Given the description of an element on the screen output the (x, y) to click on. 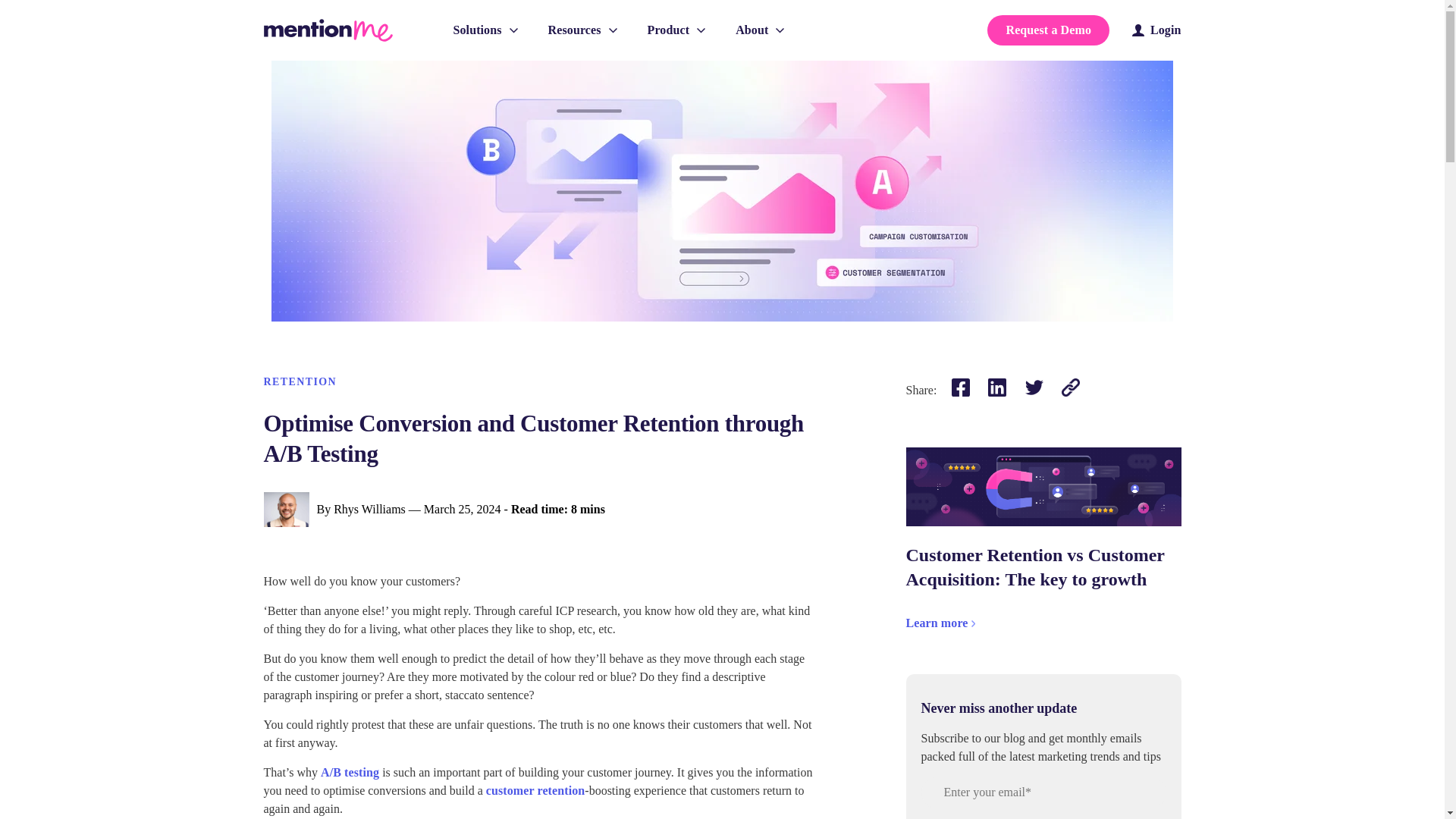
Login (1156, 30)
Product (676, 29)
Solutions (485, 29)
Request a Demo (1048, 30)
Request a Demo (1048, 30)
About (759, 29)
Resources (582, 29)
Login (1156, 30)
